Given the description of an element on the screen output the (x, y) to click on. 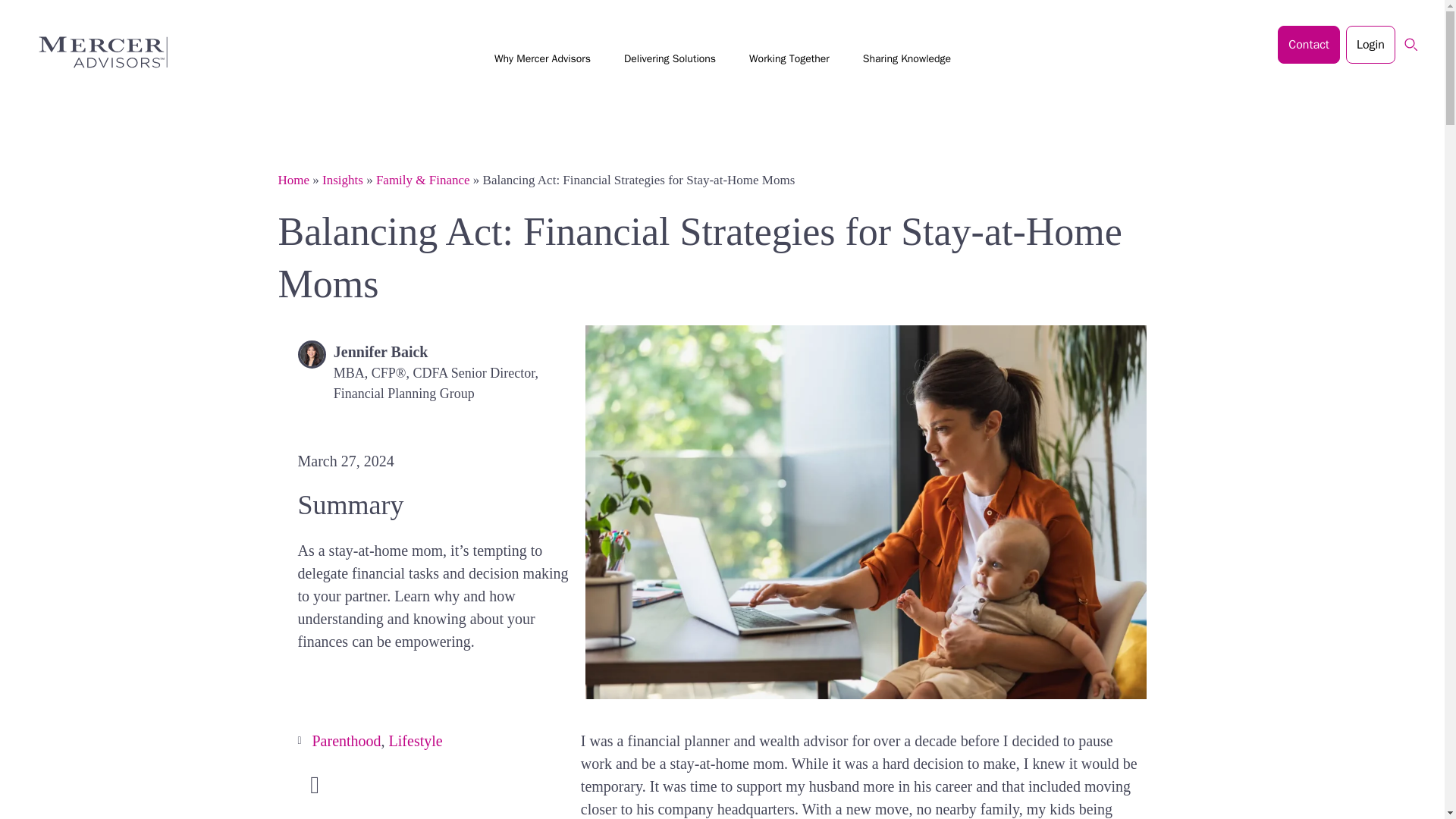
Working Together (788, 60)
Mercer Advisors (95, 51)
Why Mercer Advisors (541, 60)
Delivering Solutions (669, 60)
Sharing Knowledge (906, 60)
